Given the description of an element on the screen output the (x, y) to click on. 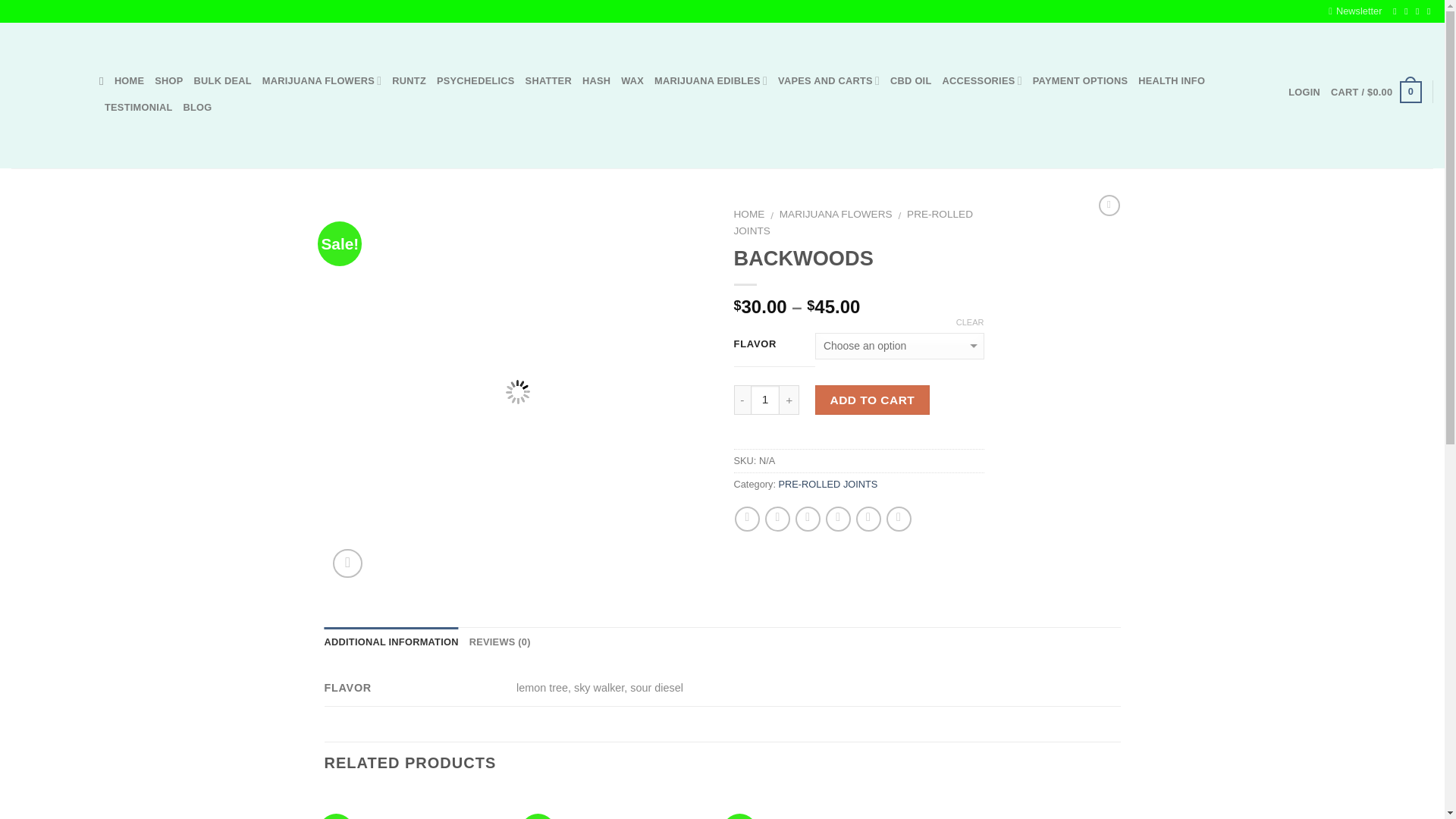
Share on Twitter (777, 518)
 -  (44, 95)
MARIJUANA FLOWERS (321, 80)
Newsletter (1354, 11)
Cart (1375, 92)
MARIJUANA EDIBLES (710, 80)
Zoom (347, 563)
Share on Facebook (747, 518)
PSYCHEDELICS (475, 80)
1 (765, 399)
